Given the description of an element on the screen output the (x, y) to click on. 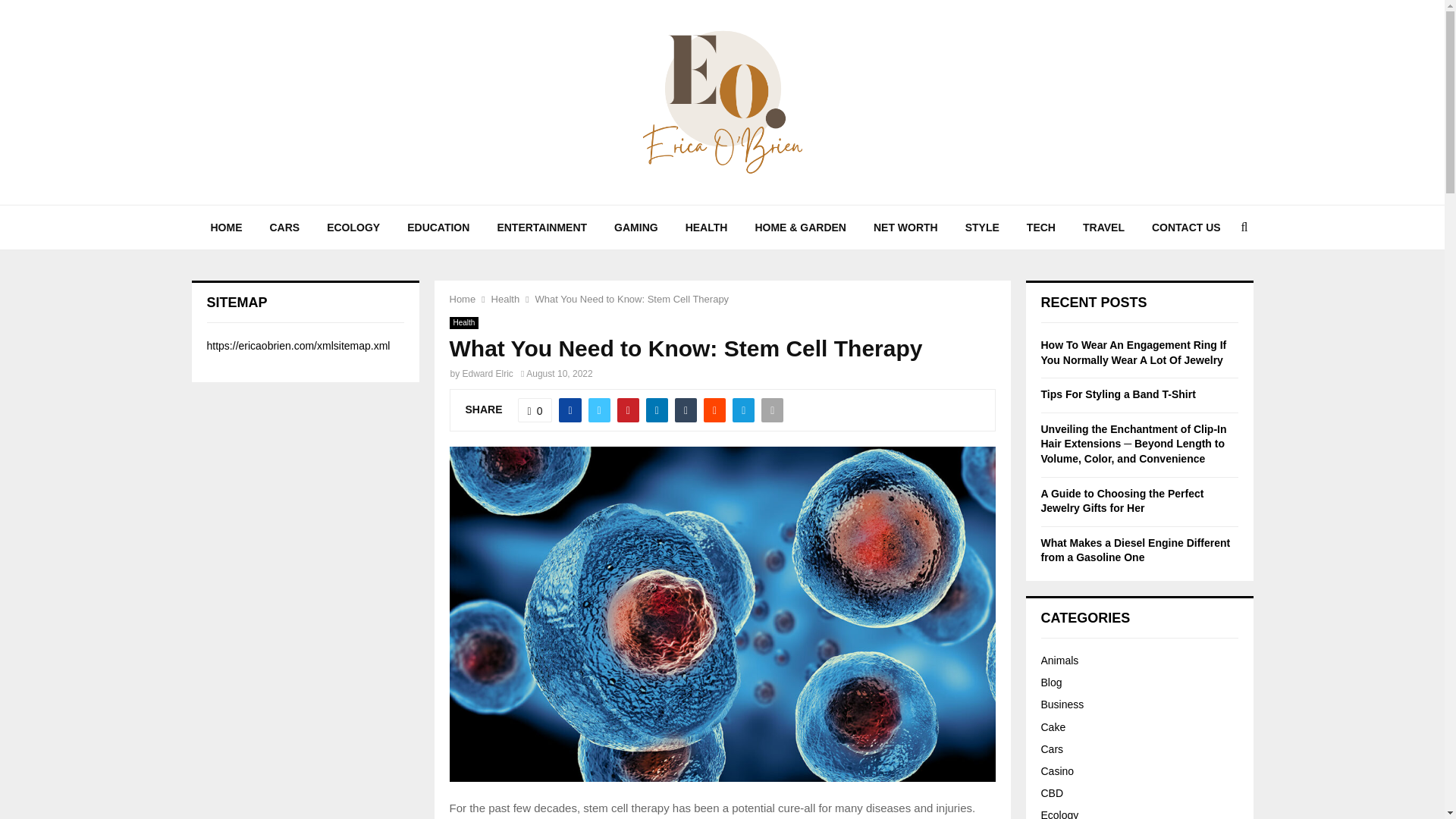
GAMING (635, 227)
TECH (1040, 227)
HEALTH (706, 227)
STYLE (982, 227)
Home (462, 298)
Health (463, 322)
EDUCATION (438, 227)
ECOLOGY (353, 227)
CONTACT US (1186, 227)
NET WORTH (906, 227)
HOME (226, 227)
Like (535, 410)
CARS (285, 227)
ENTERTAINMENT (541, 227)
What You Need to Know: Stem Cell Therapy (632, 298)
